Given the description of an element on the screen output the (x, y) to click on. 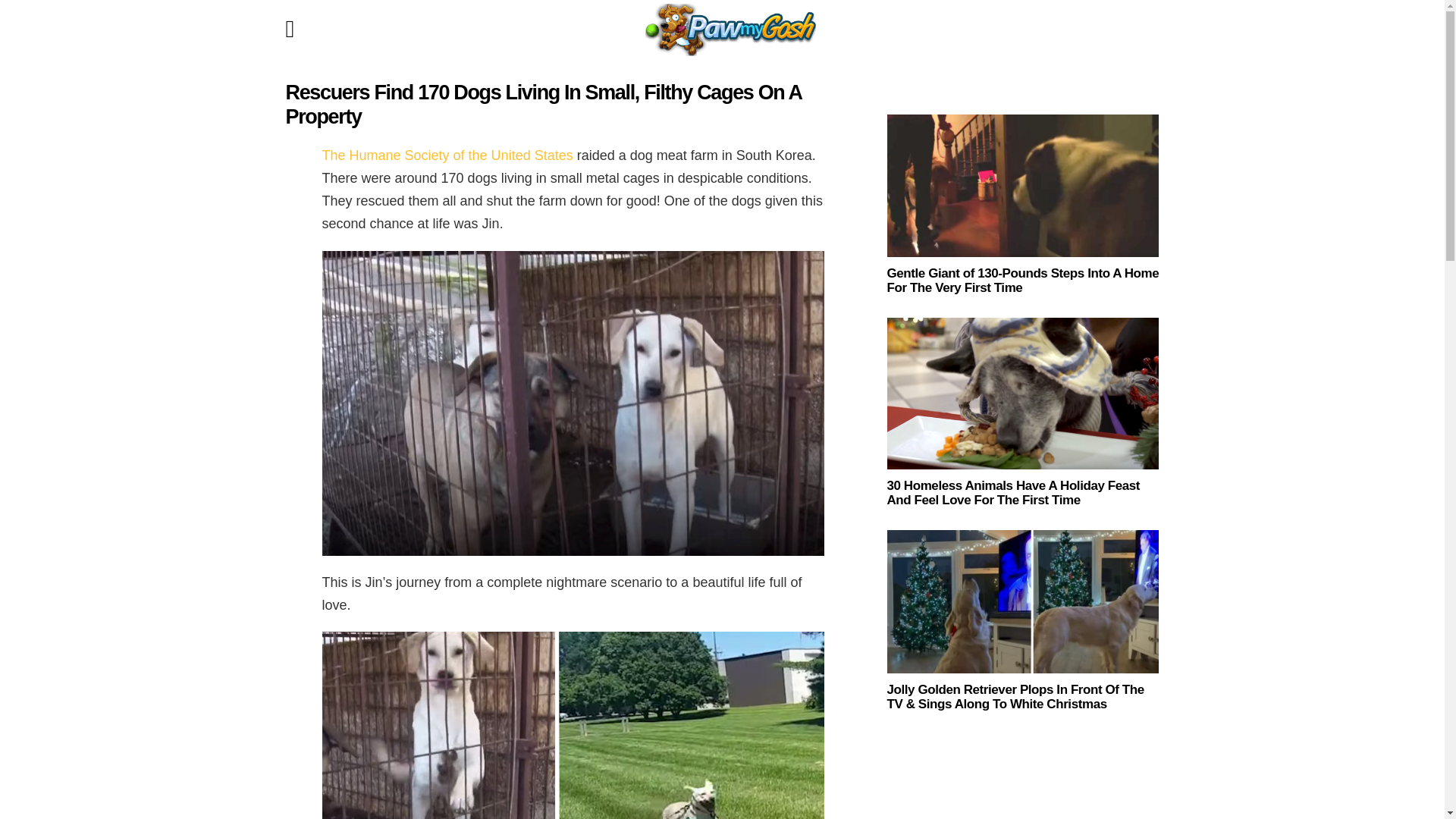
The Humane Society of the United States (446, 155)
jin new life - PawMyGosh (572, 725)
